Given the description of an element on the screen output the (x, y) to click on. 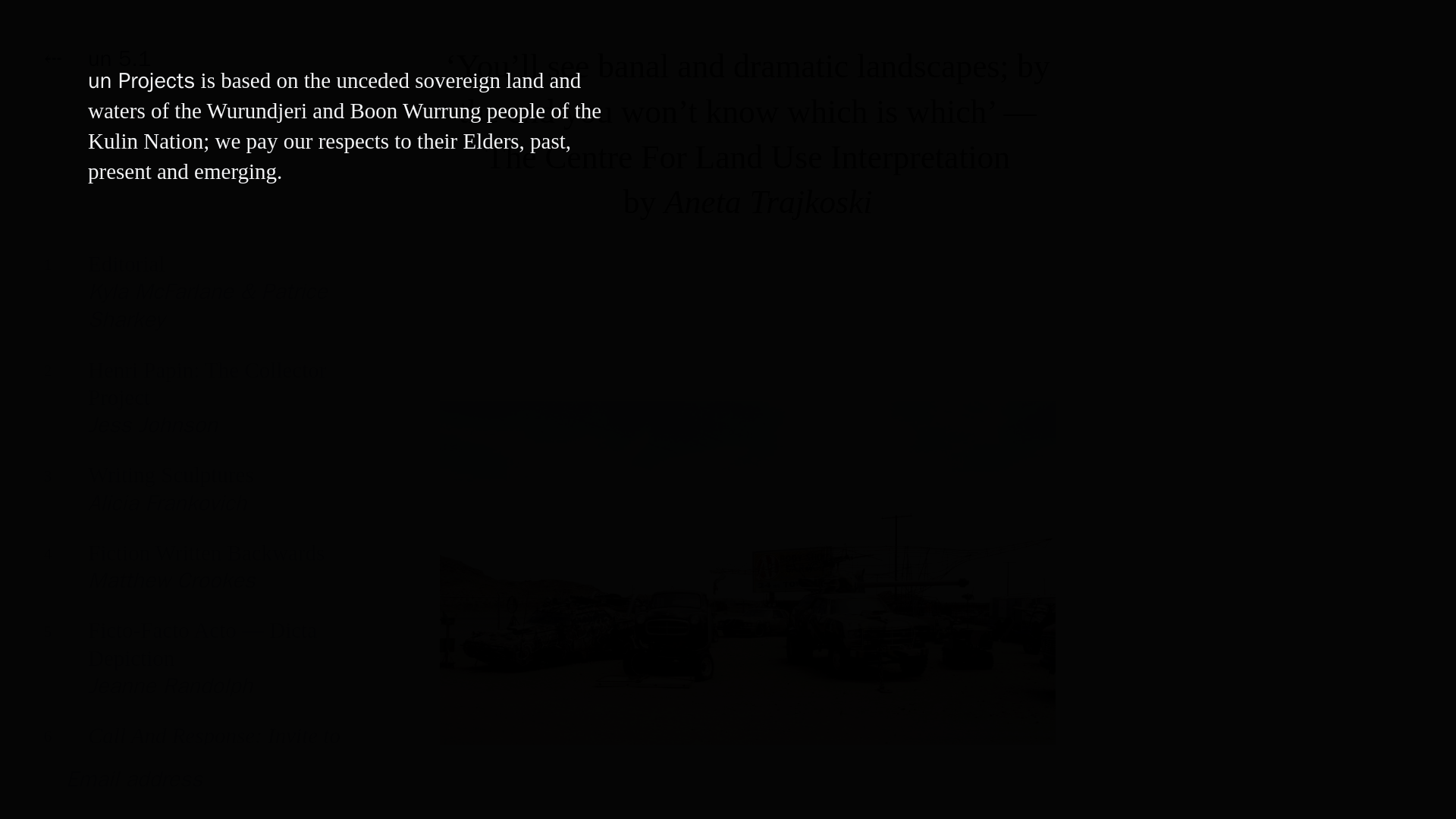
Aneta Trajkoski (197, 577)
Posts by Aneta Trajkoski (767, 201)
